Given the description of an element on the screen output the (x, y) to click on. 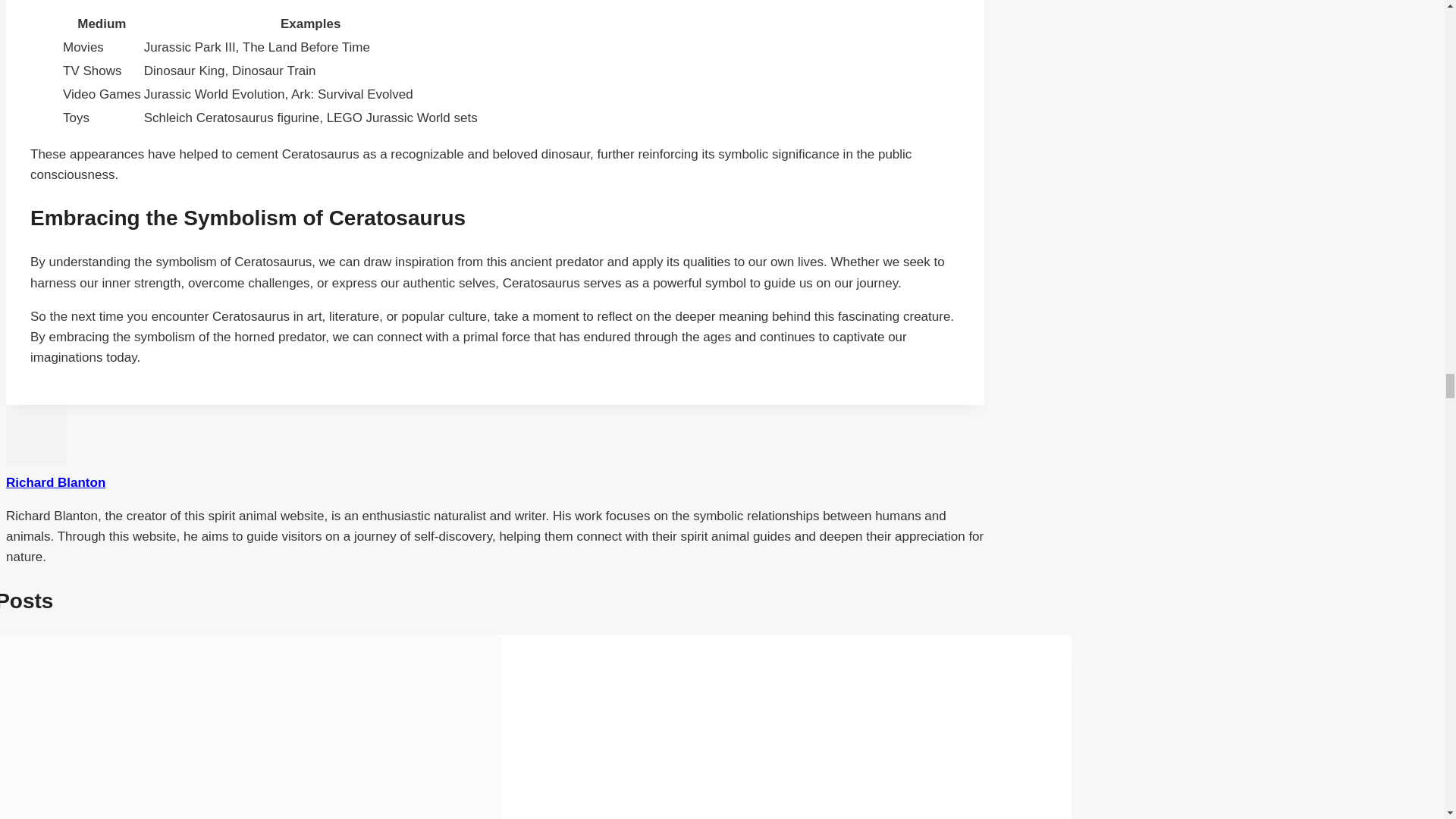
Posts by Richard Blanton (54, 482)
Spinosaurus Symbolism and Meaning 5 (250, 726)
